Given the description of an element on the screen output the (x, y) to click on. 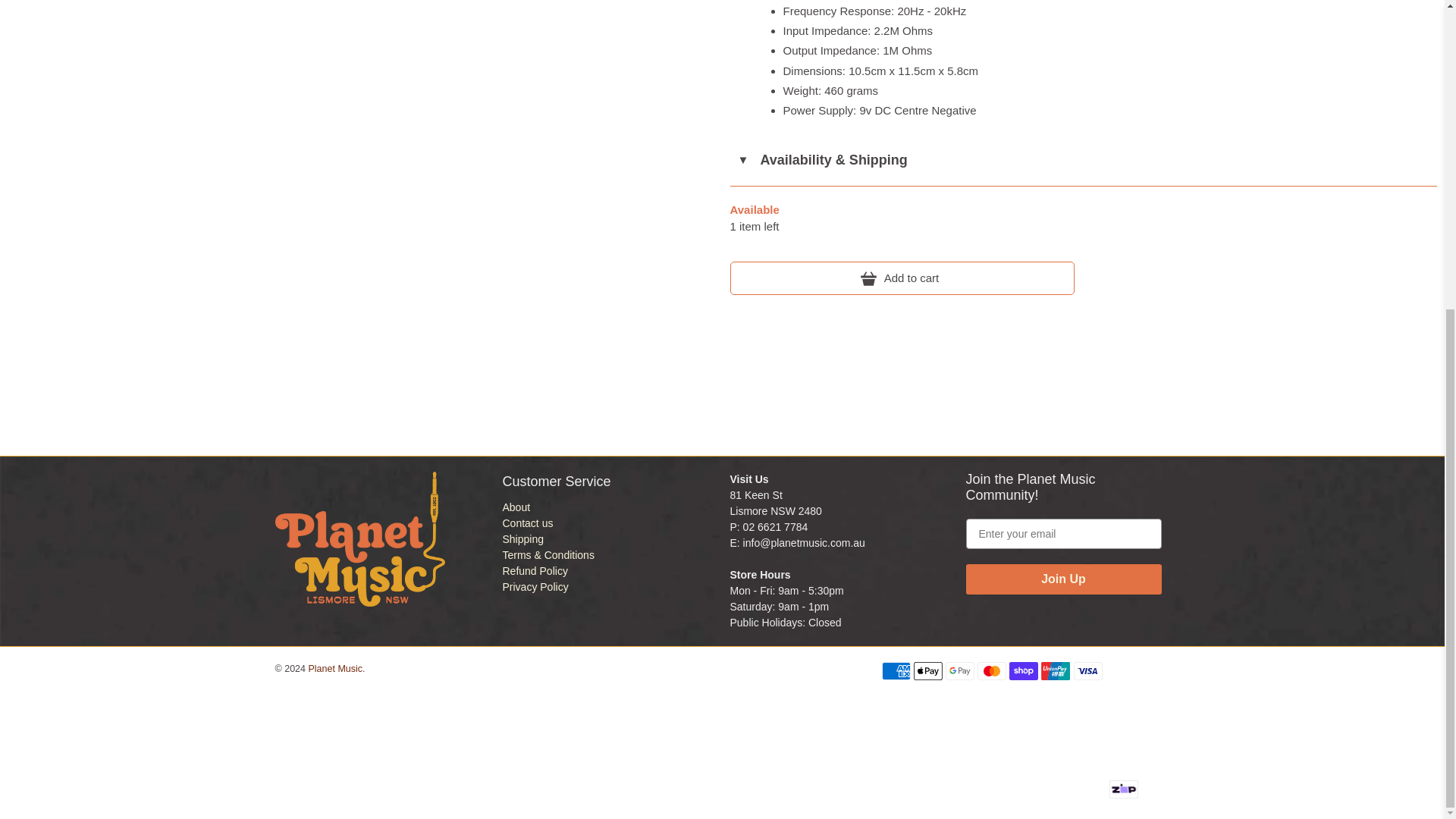
Google Pay (959, 670)
Union Pay (1055, 670)
Shop Pay (1023, 670)
Apple Pay (928, 670)
Planet Music (359, 546)
Mastercard (991, 670)
American Express (895, 670)
Visa (1088, 670)
